Given the description of an element on the screen output the (x, y) to click on. 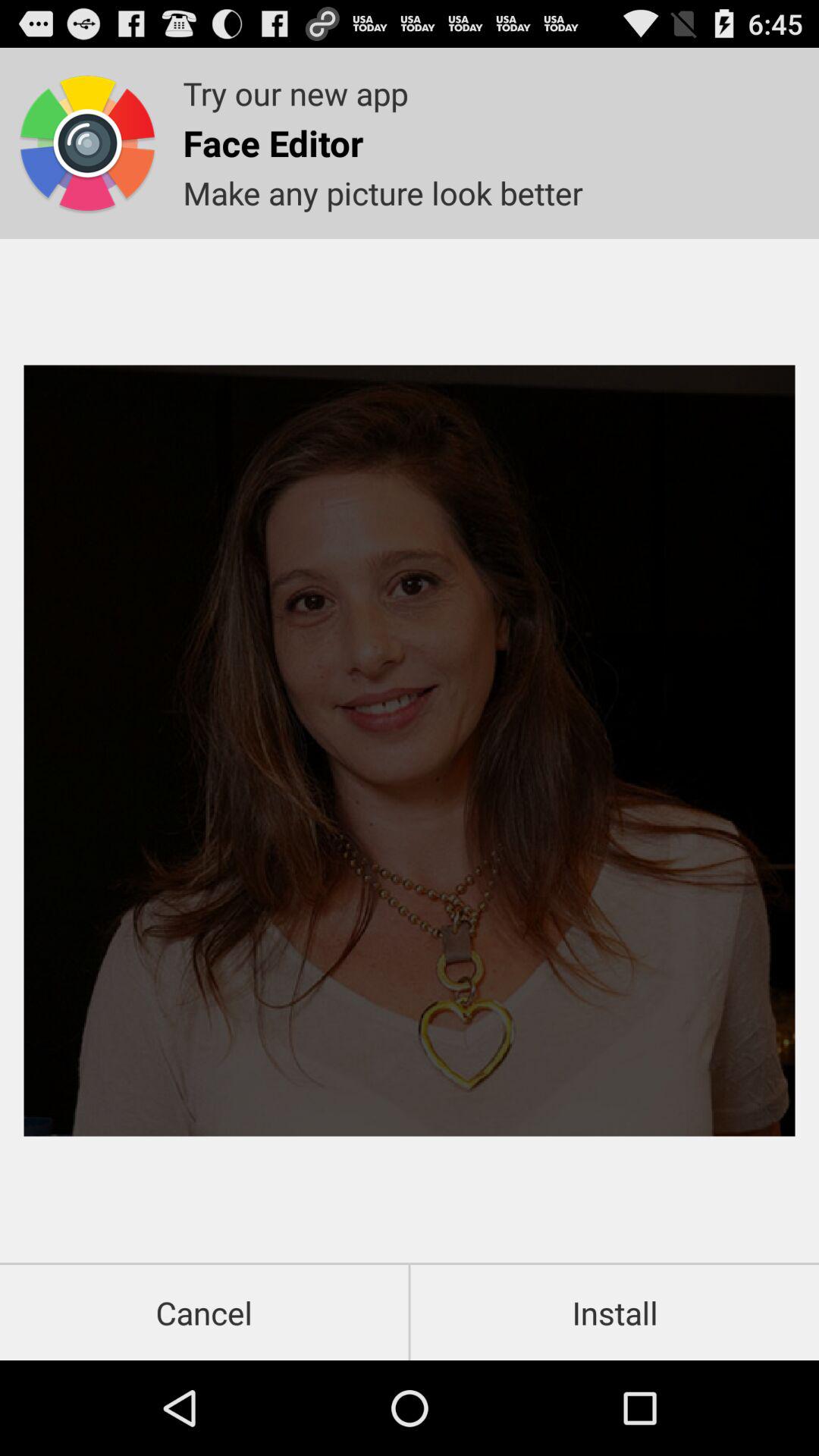
select install (614, 1312)
